Given the description of an element on the screen output the (x, y) to click on. 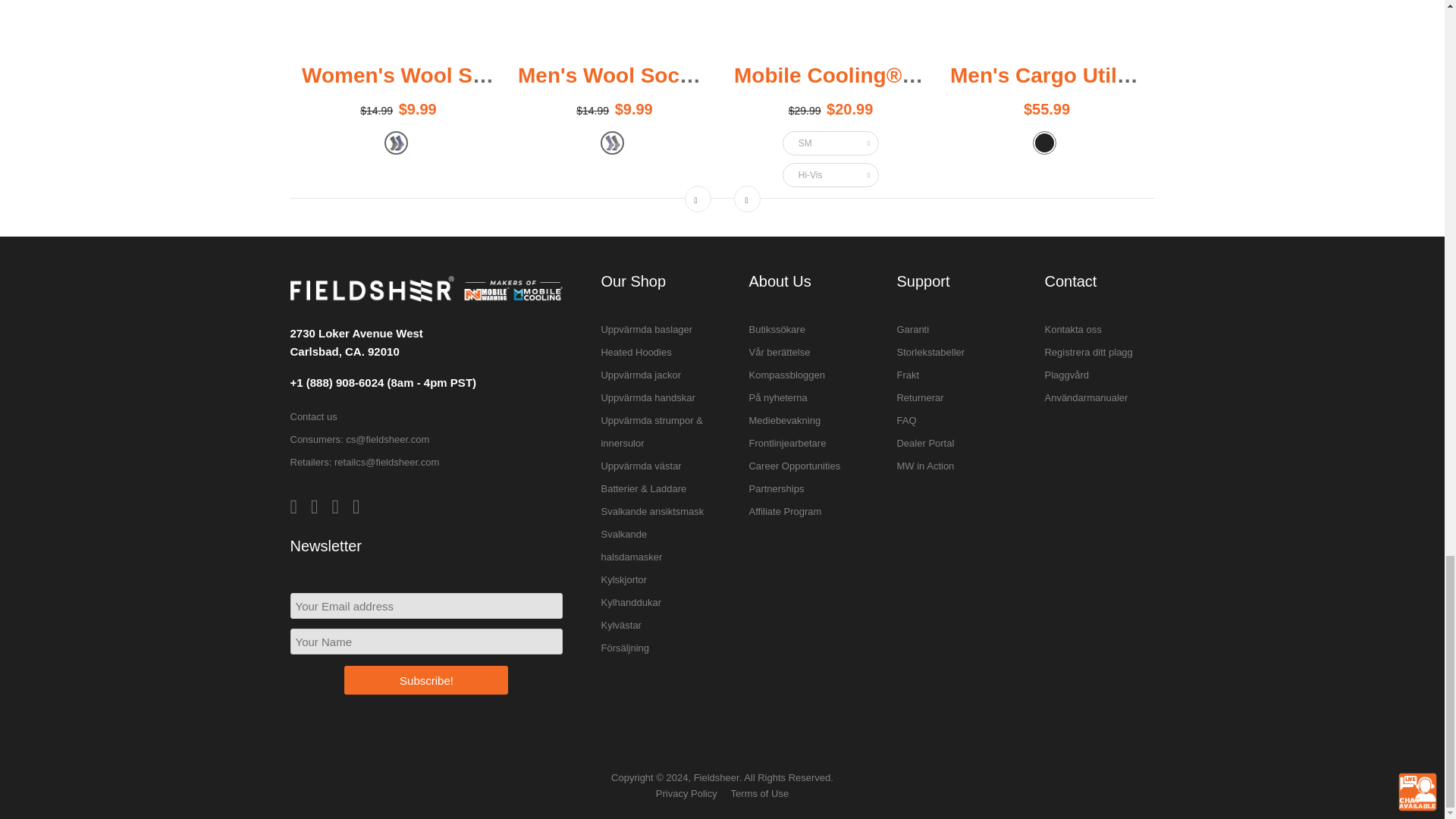
Subscribe! (425, 679)
